Given the description of an element on the screen output the (x, y) to click on. 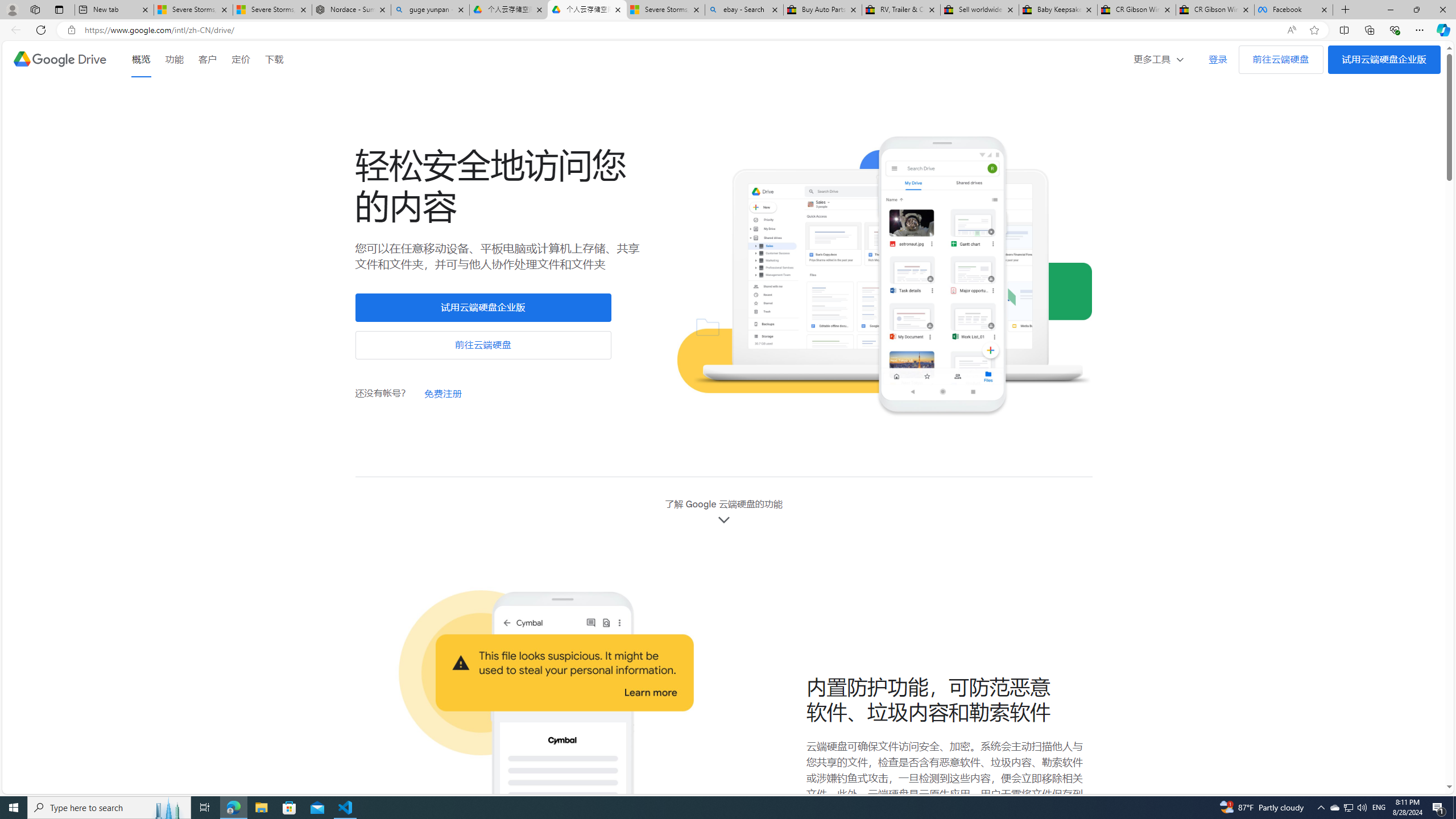
Sell worldwide with eBay (979, 9)
Facebook (1293, 9)
Google Drive (59, 58)
